Given the description of an element on the screen output the (x, y) to click on. 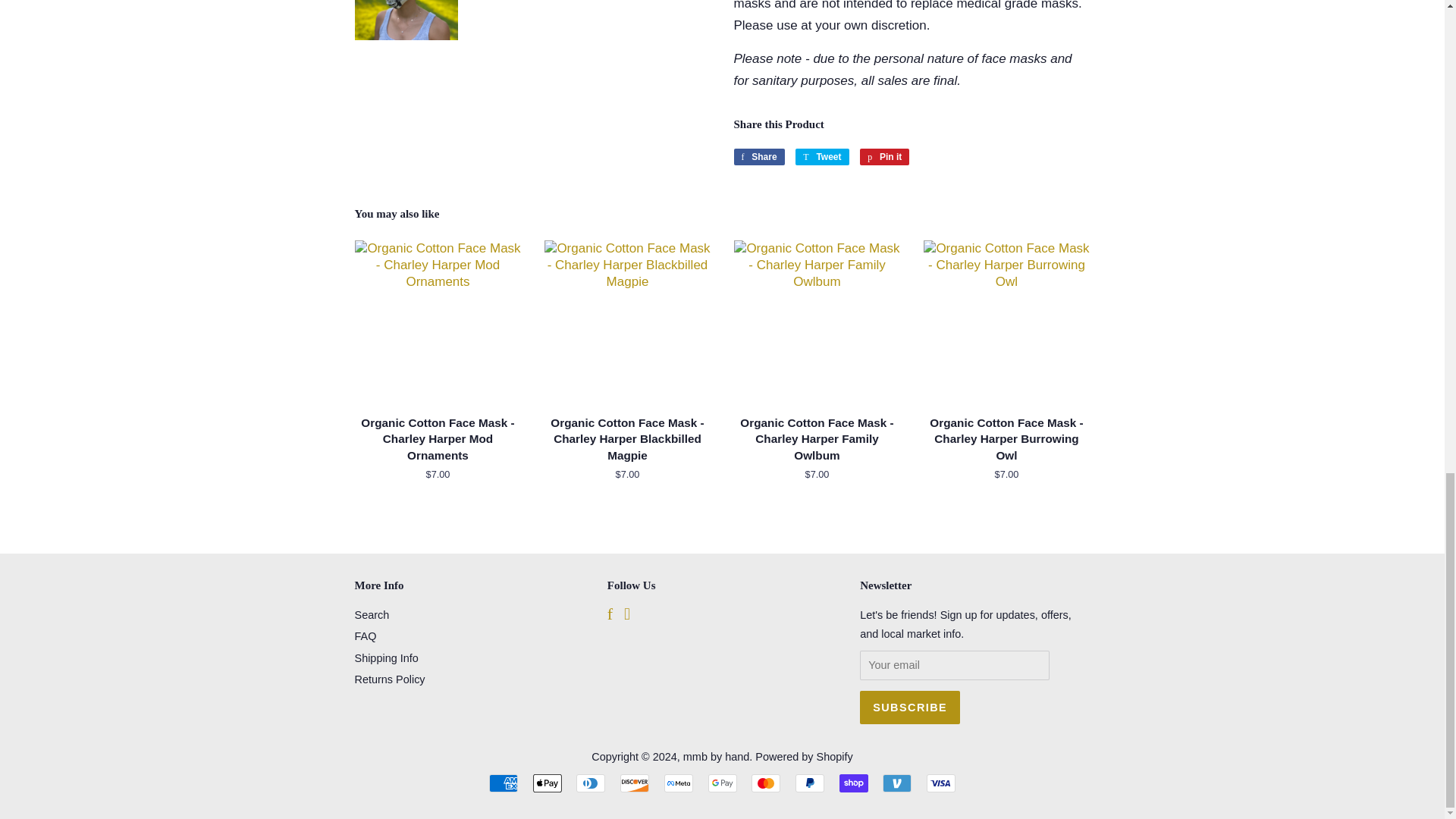
American Express (503, 782)
Subscribe (909, 707)
Apple Pay (547, 782)
Meta Pay (678, 782)
Venmo (896, 782)
Share on Facebook (758, 156)
Diners Club (590, 782)
Shop Pay (853, 782)
PayPal (809, 782)
Tweet on Twitter (821, 156)
